Given the description of an element on the screen output the (x, y) to click on. 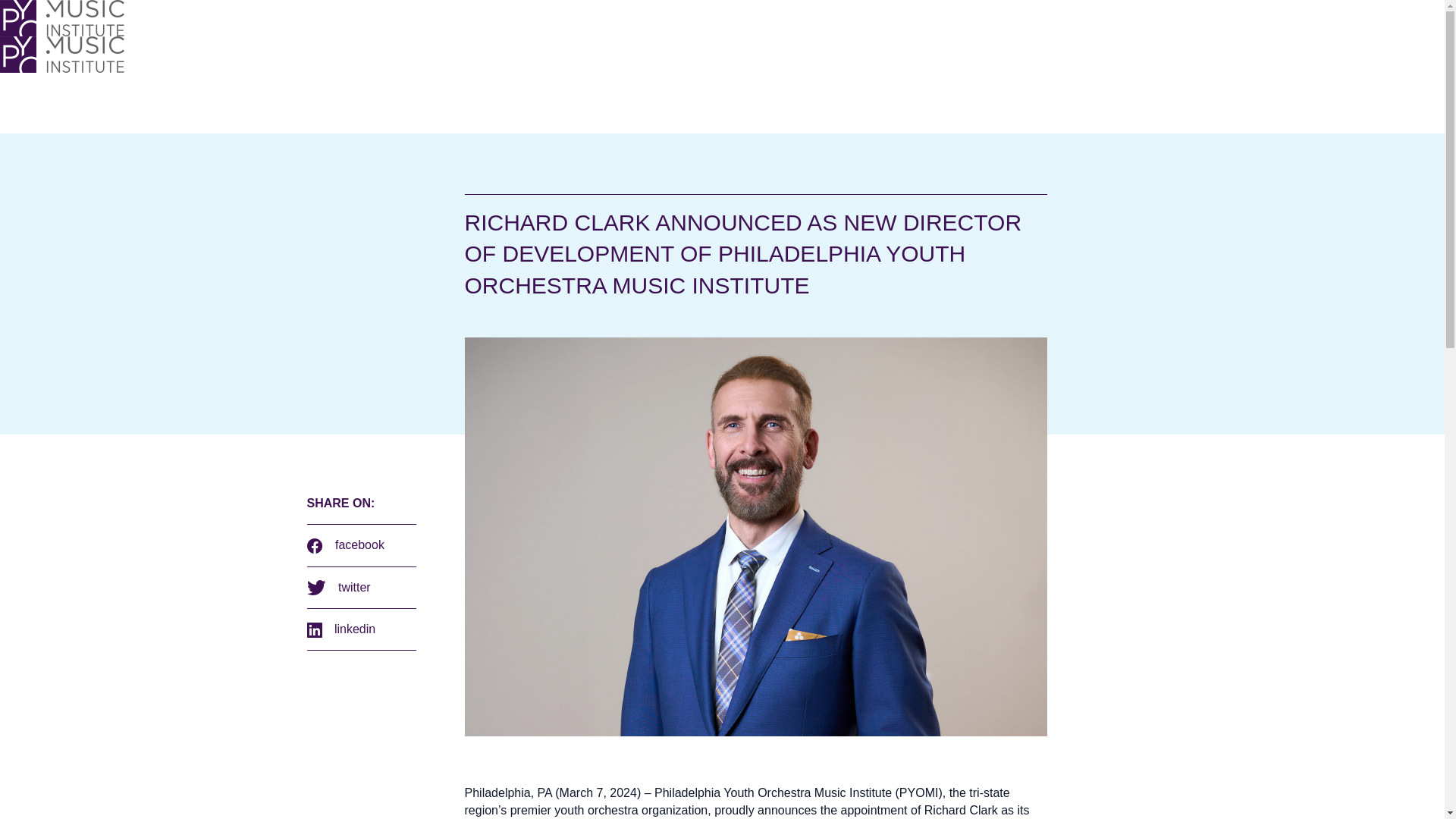
facebook (359, 544)
twitter (359, 587)
linkedin (359, 629)
